Given the description of an element on the screen output the (x, y) to click on. 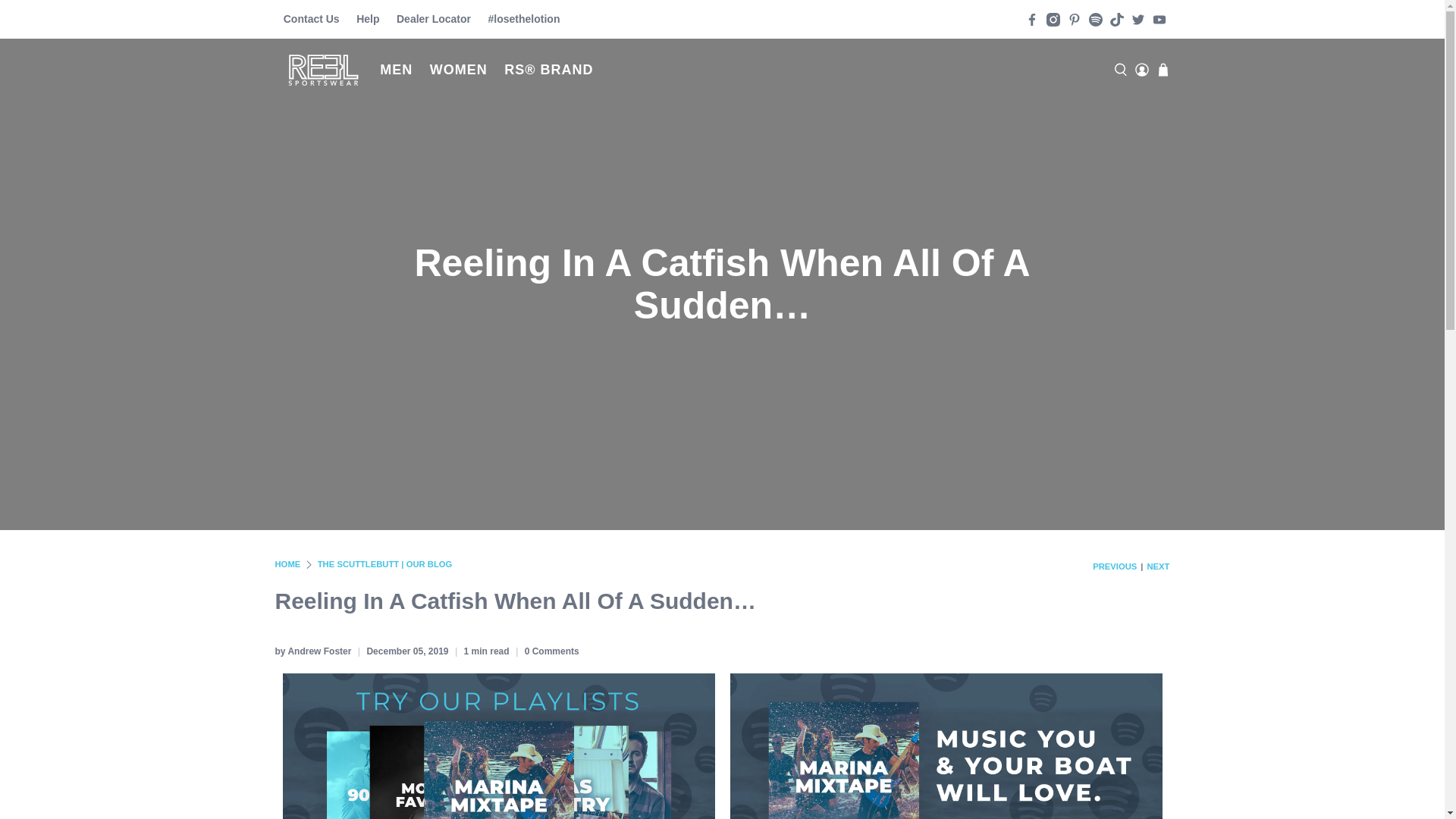
Next (1158, 566)
Reel Sportswear on Twitter (1137, 18)
Reel Sportswear on Pinterest (1074, 18)
Reel Sportswear on Facebook (1032, 18)
WOMEN (459, 69)
Help (367, 19)
Reel Sportswear on TikTok (1116, 18)
Reel Sportswear on YouTube (1159, 18)
Reel Sportswear on Spotify (1095, 18)
Previous (1115, 566)
